Given the description of an element on the screen output the (x, y) to click on. 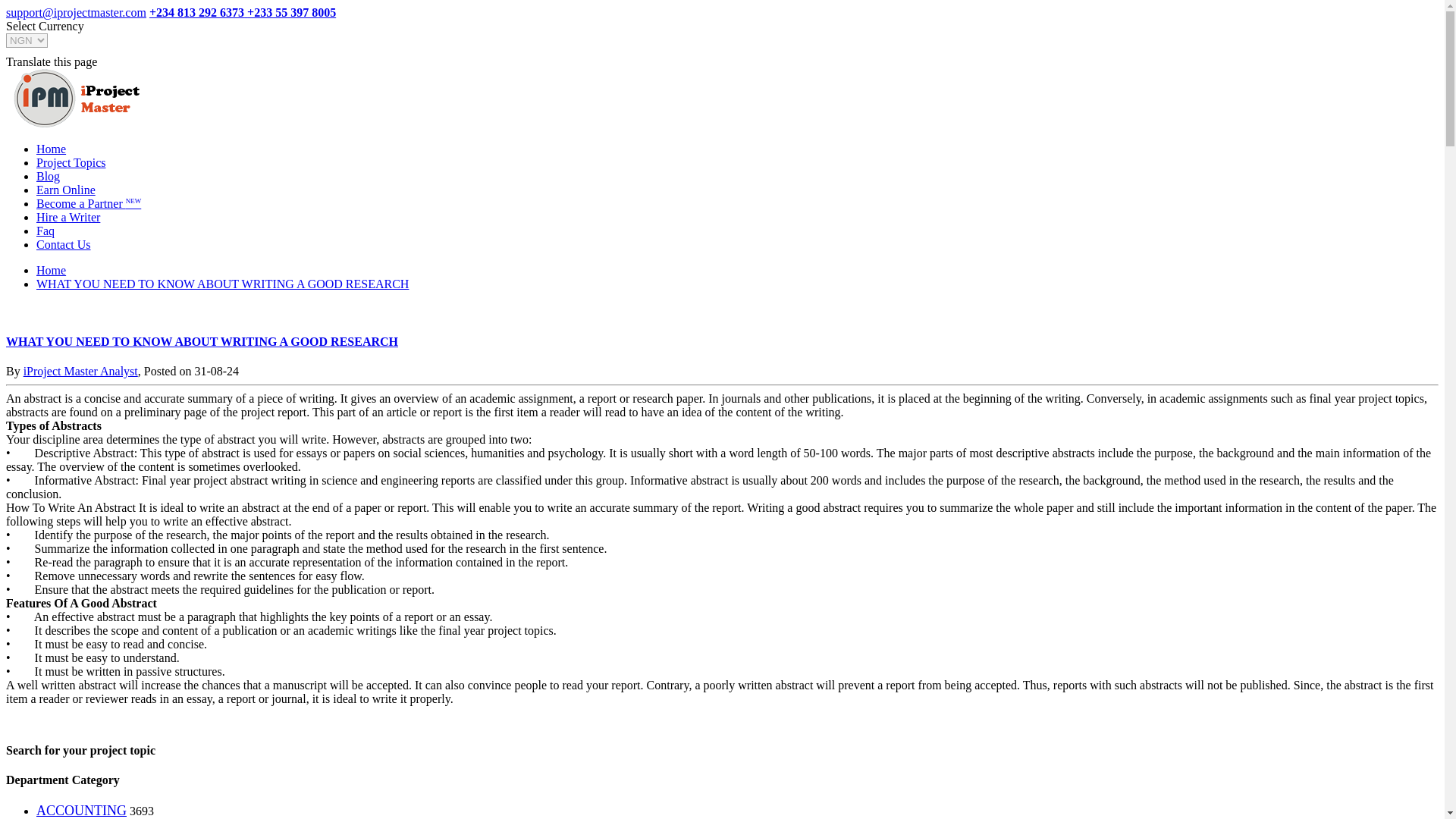
Contact Us (63, 244)
Home (50, 269)
WHAT YOU NEED TO KNOW ABOUT WRITING A GOOD RESEARCH (222, 283)
Hire a Writer (68, 216)
Project Topics (70, 162)
Project Topics (77, 97)
Home (50, 148)
Earn Online (66, 189)
Faq (45, 230)
Become a Partner NEW (88, 203)
